Given the description of an element on the screen output the (x, y) to click on. 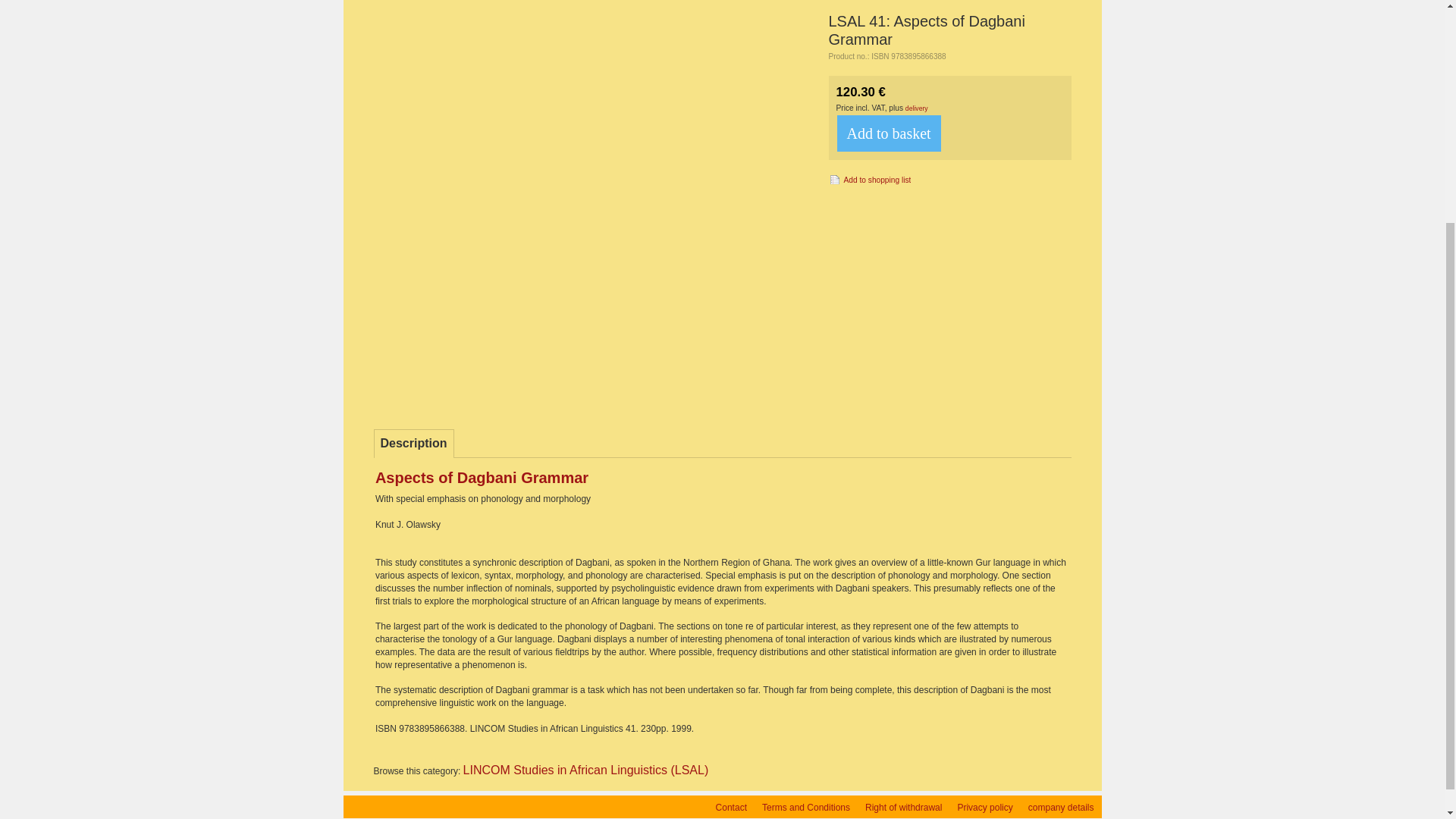
Add to shopping list (869, 178)
